Given the description of an element on the screen output the (x, y) to click on. 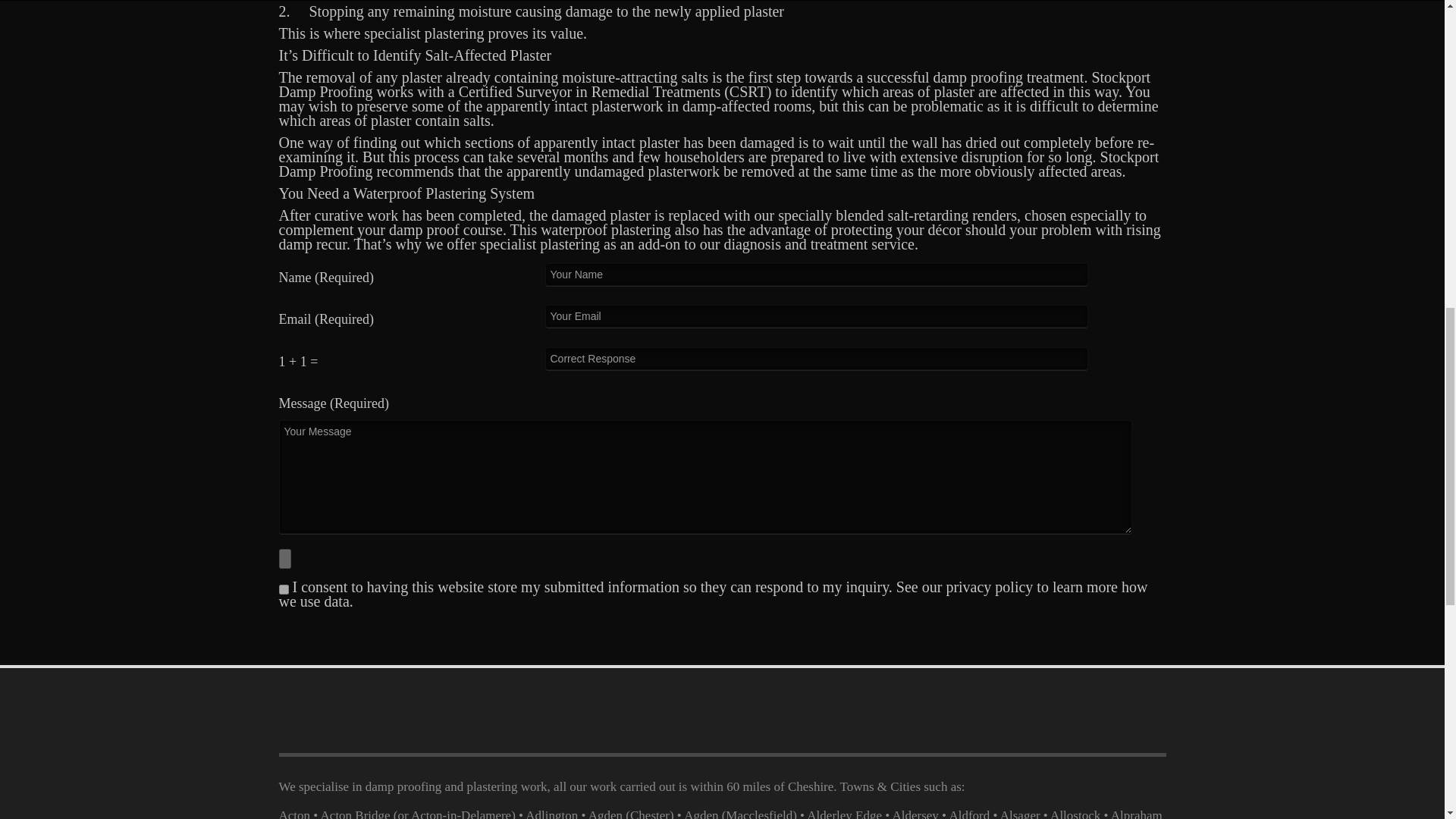
on (283, 589)
